Given the description of an element on the screen output the (x, y) to click on. 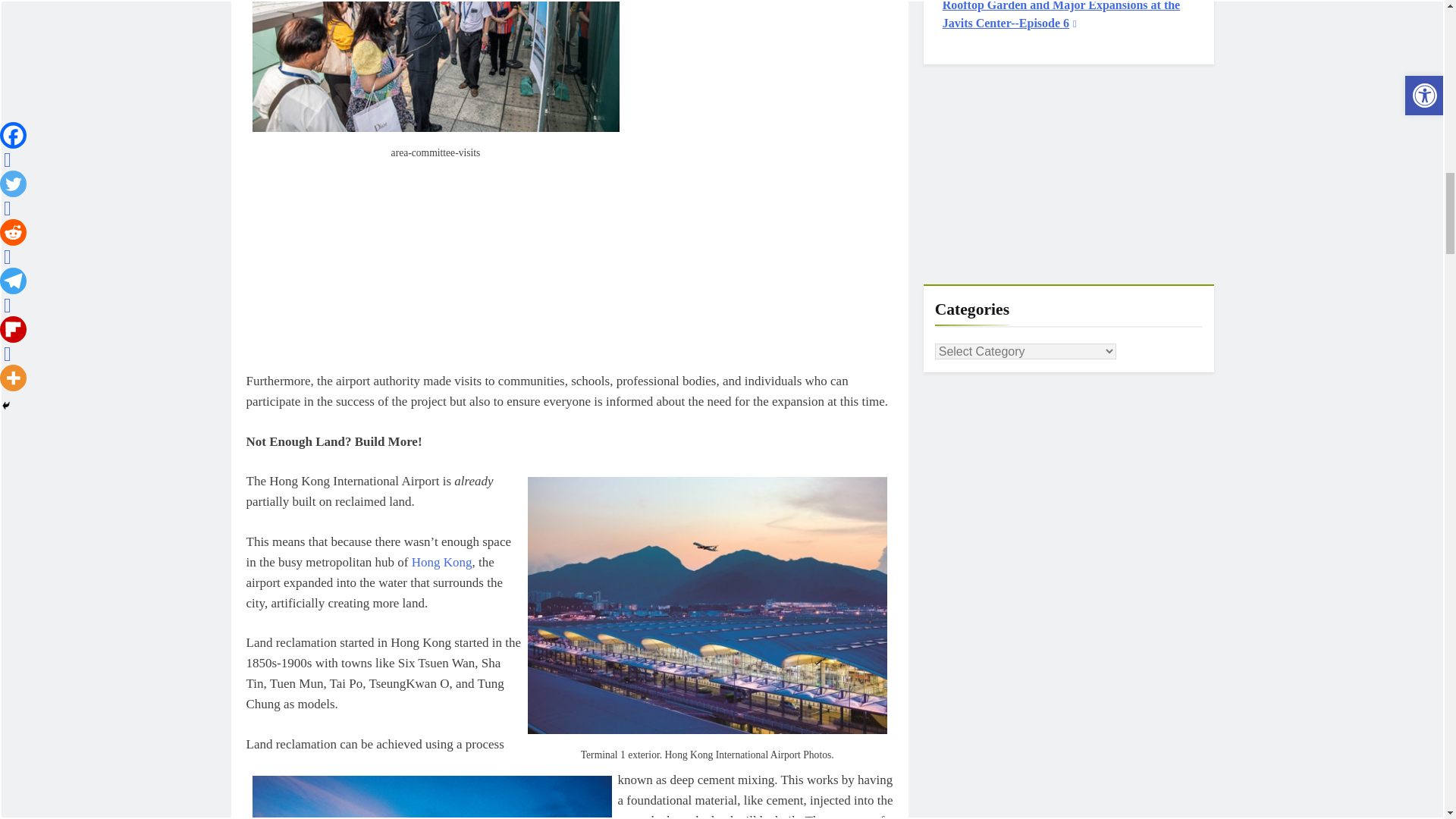
Terminal 1 exterior. Hong Kong International Airport Photos. (707, 605)
